Given the description of an element on the screen output the (x, y) to click on. 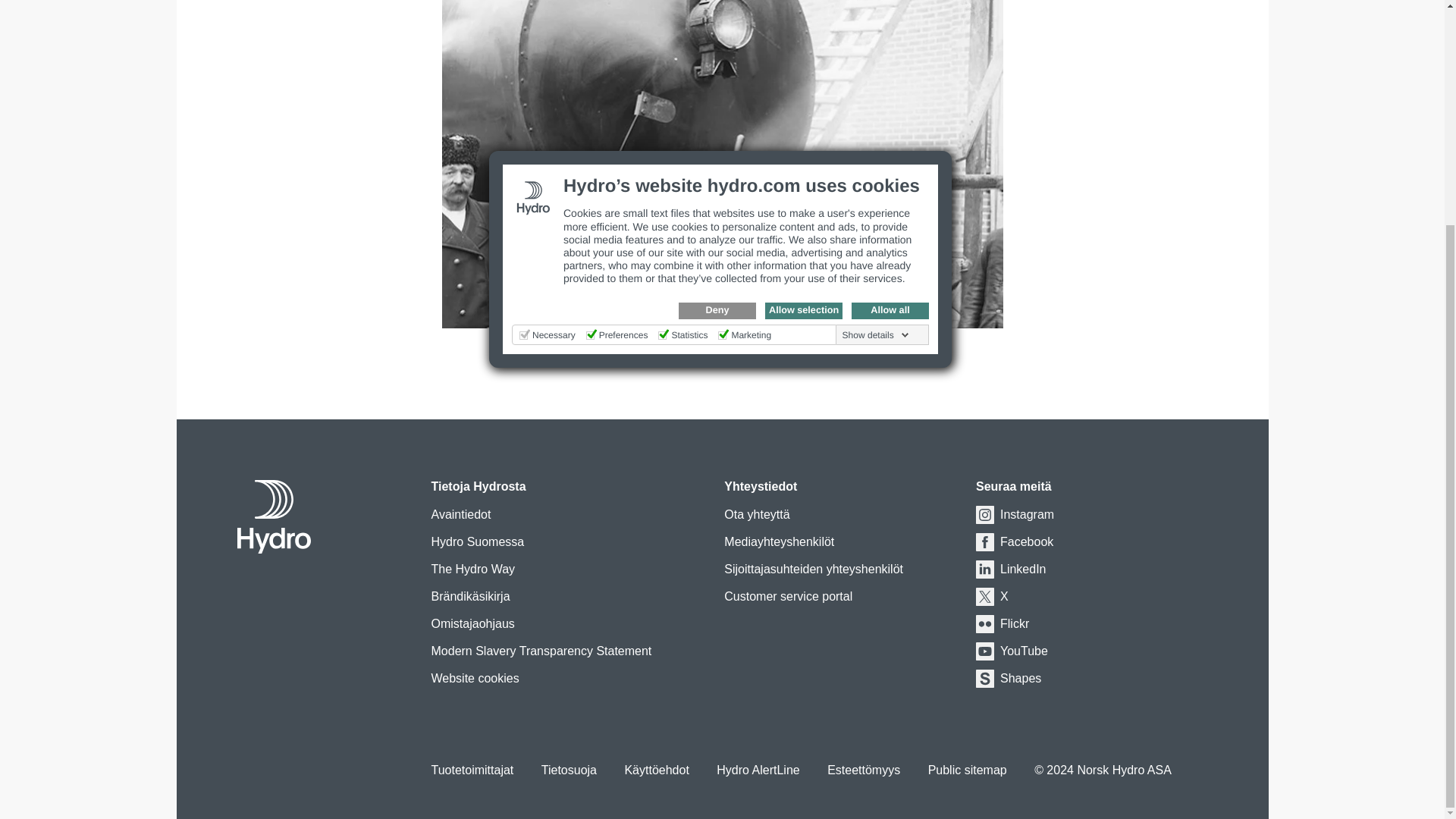
Show details (876, 33)
Allow selection (804, 9)
Deny (716, 9)
Allow all (889, 9)
